Given the description of an element on the screen output the (x, y) to click on. 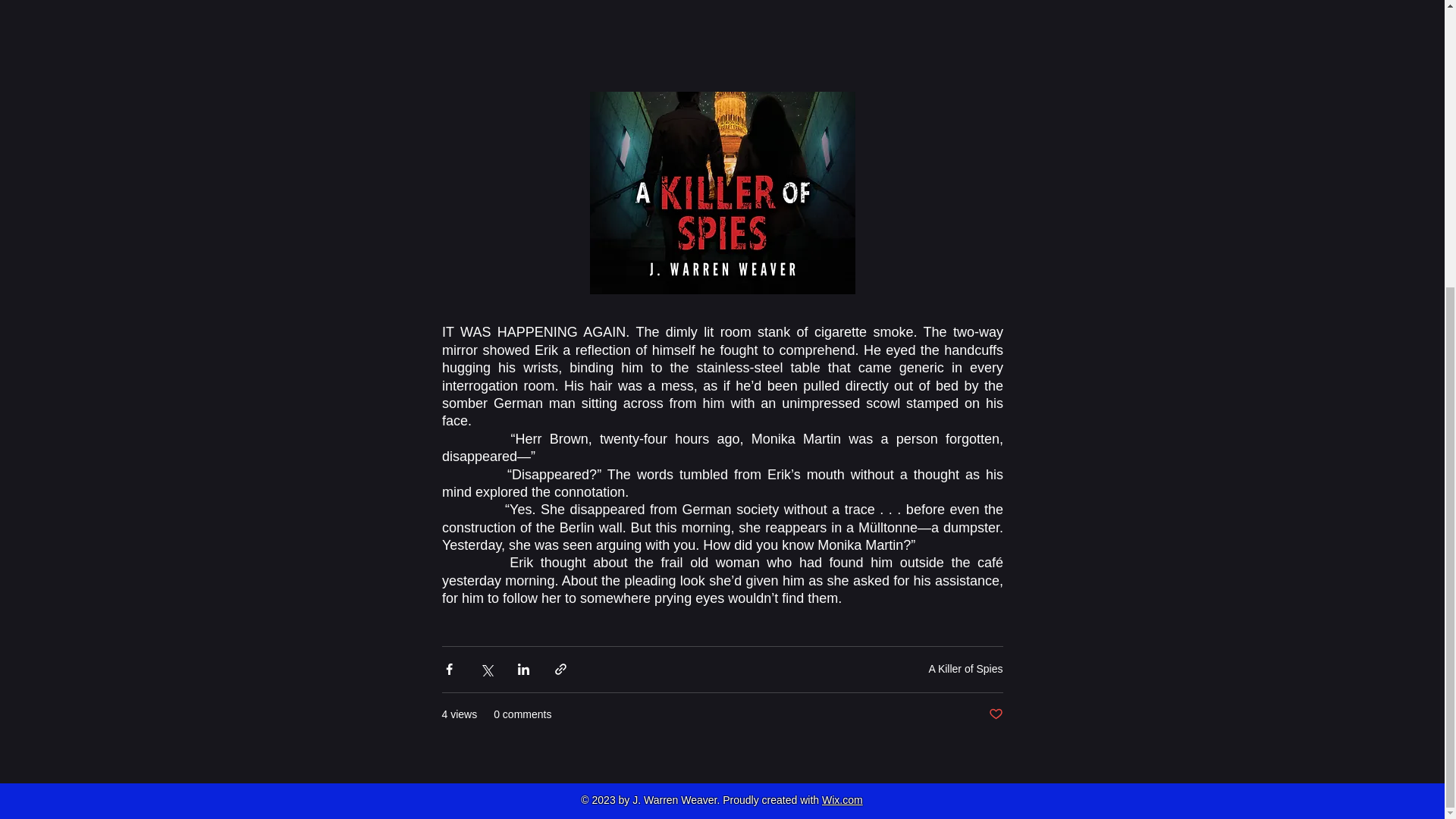
Post not marked as liked (995, 714)
Wix.com (842, 799)
A Killer of Spies (965, 668)
